Given the description of an element on the screen output the (x, y) to click on. 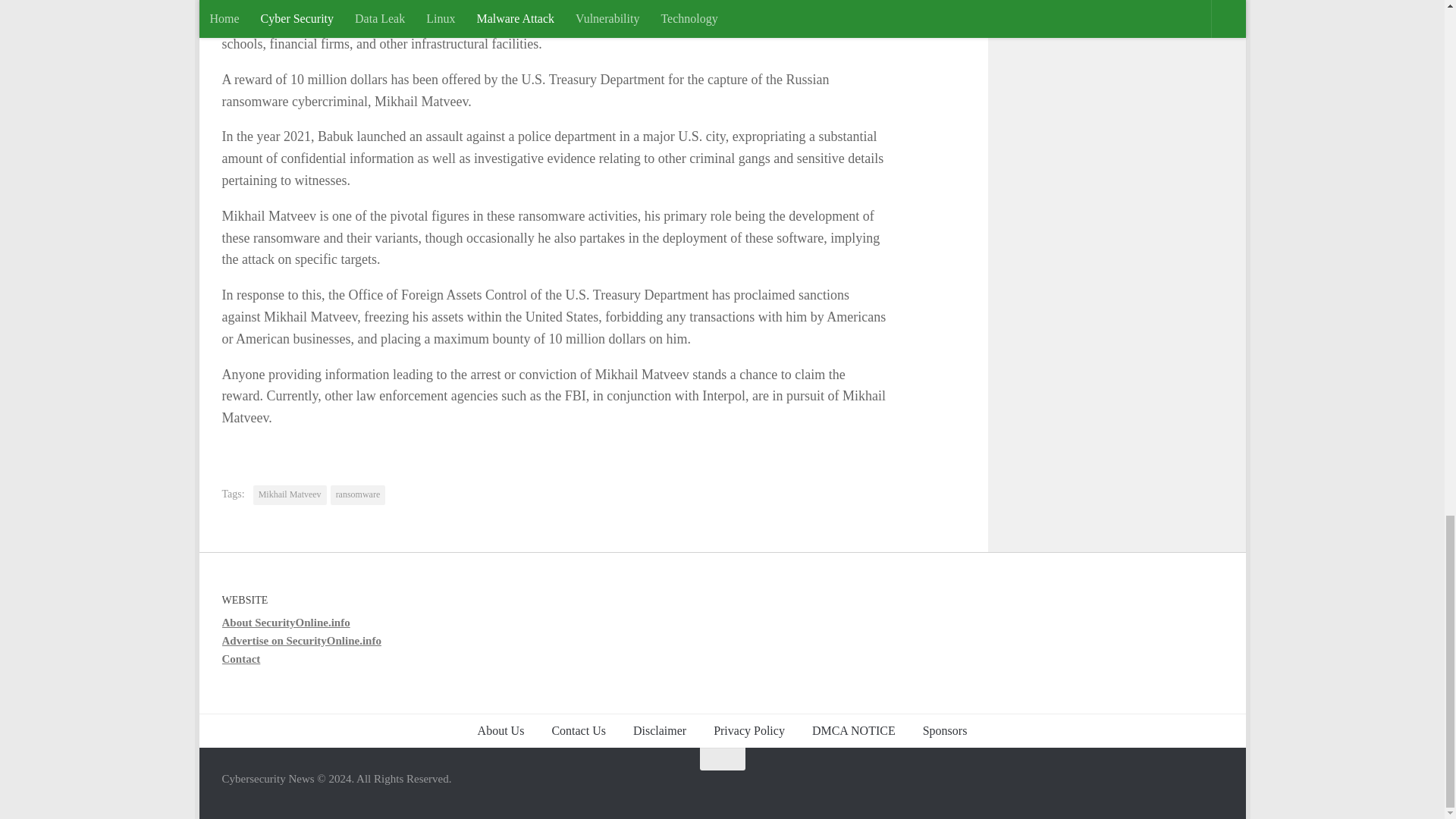
ransomware (357, 495)
Mikhail Matveev (289, 495)
